Given the description of an element on the screen output the (x, y) to click on. 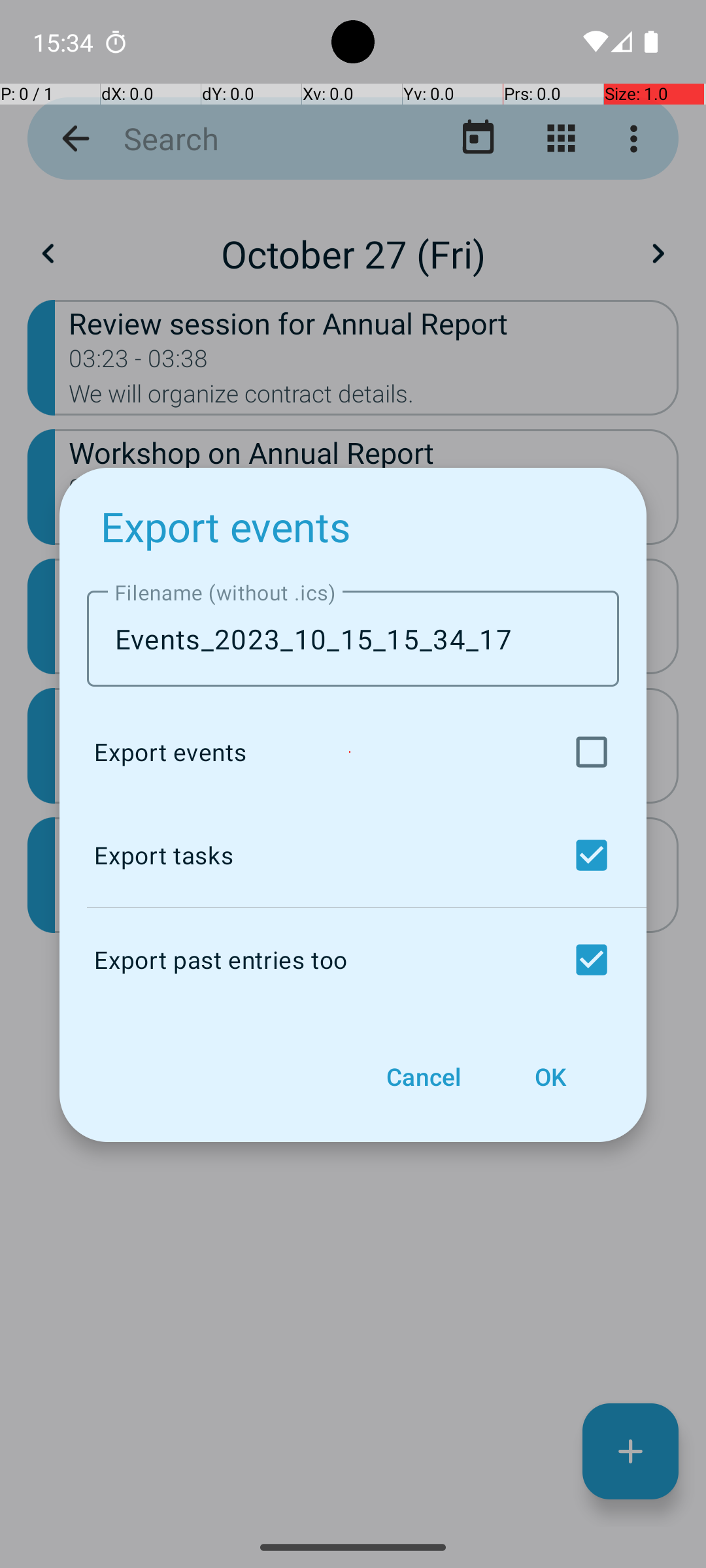
Export events Element type: android.widget.TextView (225, 526)
Events_2023_10_15_15_34_17 Element type: android.widget.EditText (352, 638)
Export tasks Element type: android.widget.CheckBox (349, 855)
Export past entries too Element type: android.widget.CheckBox (349, 959)
